Given the description of an element on the screen output the (x, y) to click on. 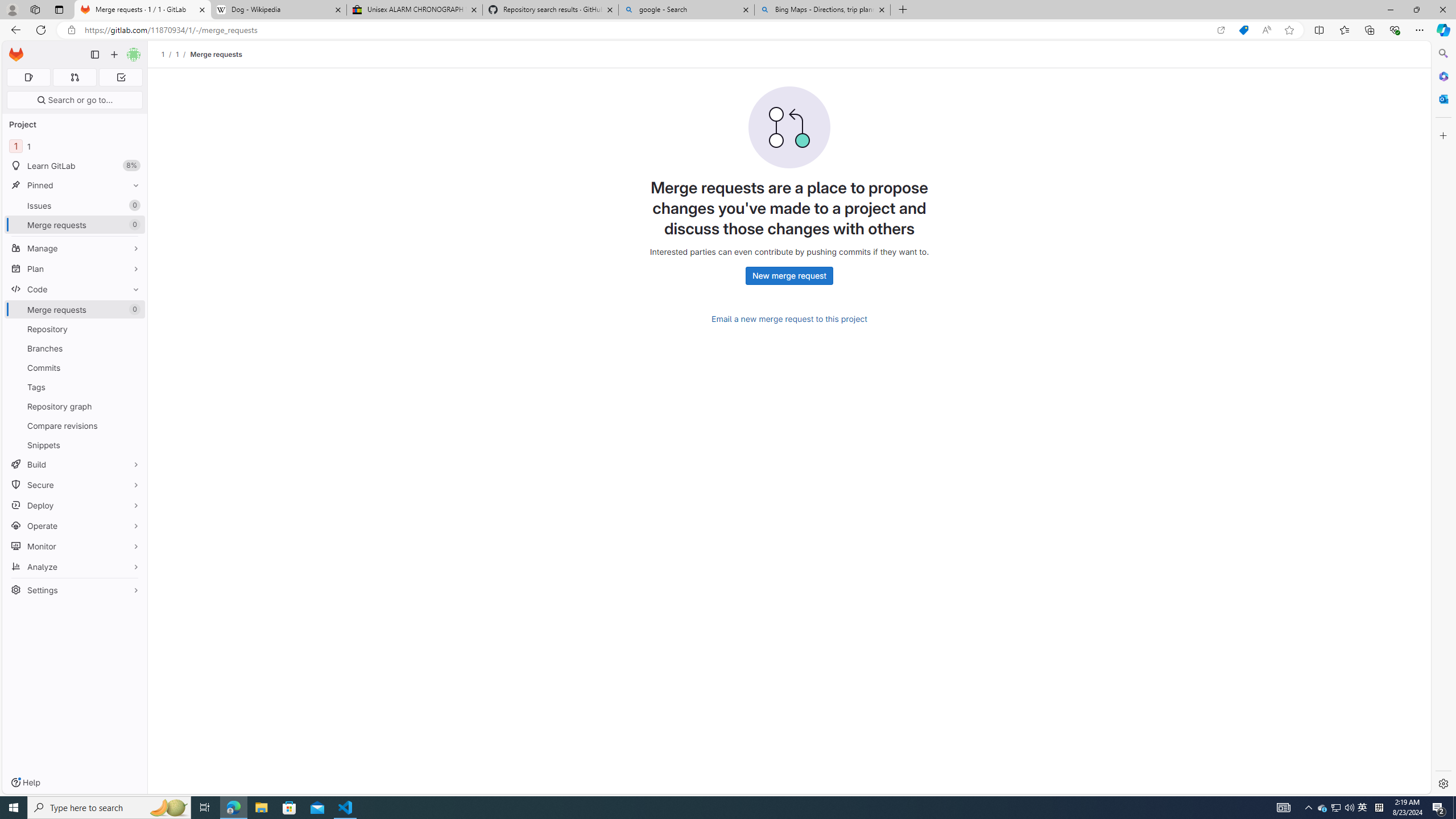
New merge request (789, 275)
Build (74, 464)
Pinned (74, 185)
Merge requests 0 (74, 76)
Plan (74, 268)
Branches (74, 348)
Operate (74, 525)
Learn GitLab8% (74, 165)
Secure (74, 484)
Repository graph (74, 406)
